Given the description of an element on the screen output the (x, y) to click on. 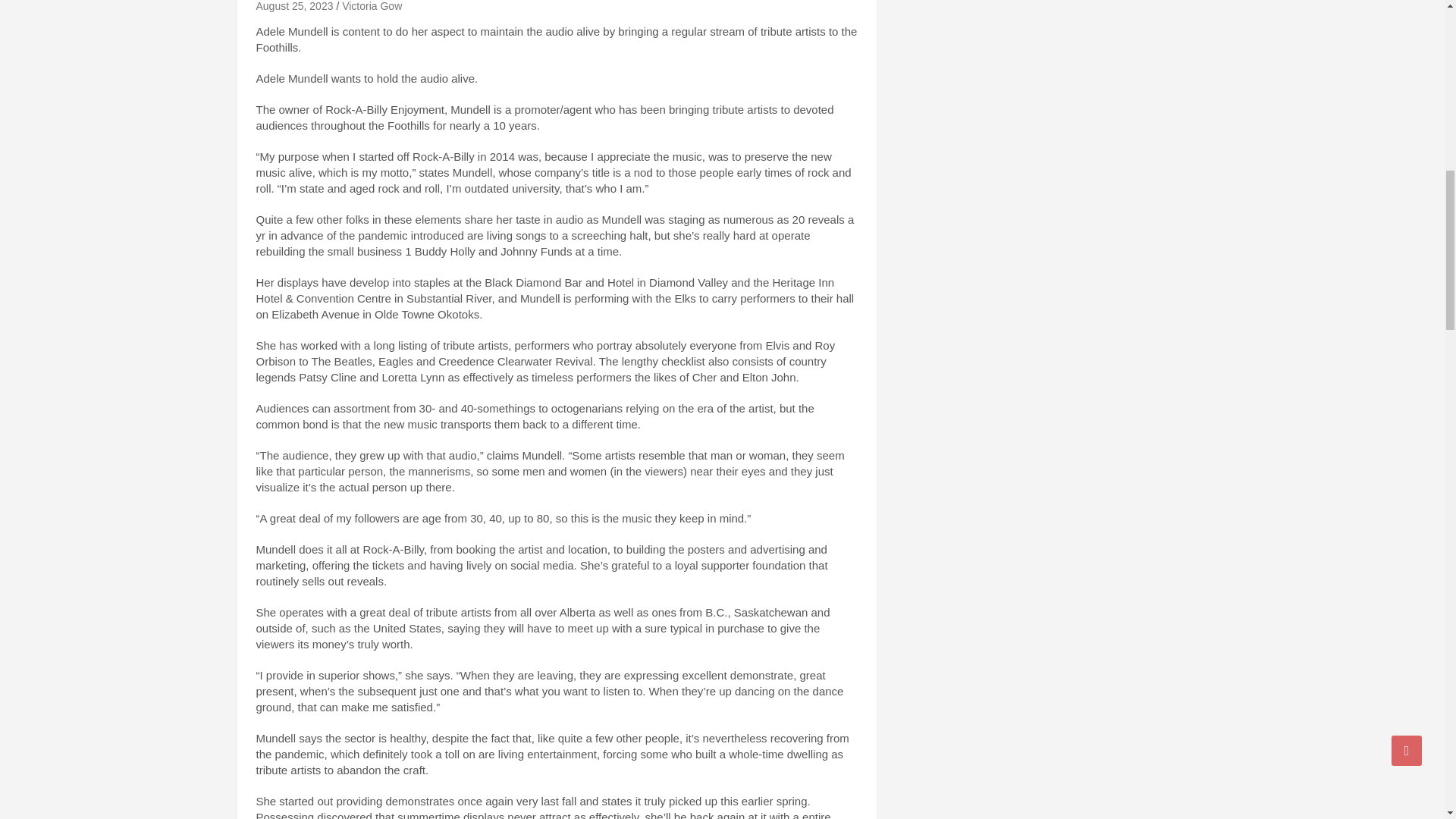
Victoria Gow (371, 6)
August 25, 2023 (294, 6)
